Given the description of an element on the screen output the (x, y) to click on. 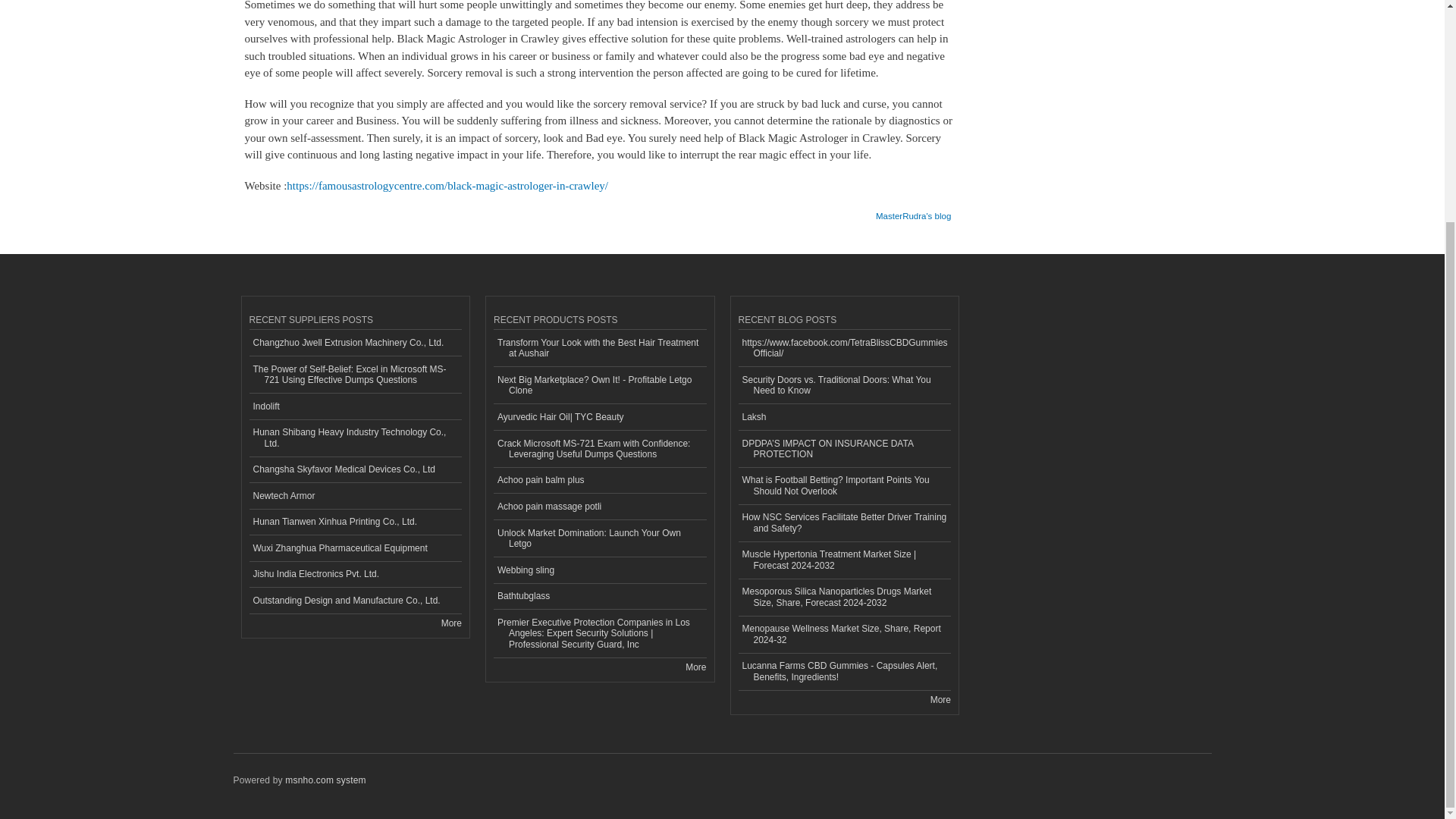
Newtech Armor (354, 496)
Changsha Skyfavor Medical Devices Co., Ltd (354, 469)
Next Big Marketplace? Own It! - Profitable Letgo Clone (599, 385)
More (451, 623)
Indolift (354, 406)
MasterRudra's blog (913, 211)
Achoo pain massage potli (599, 506)
Read the latest suppliers entries. (451, 623)
Read the latest products entries. (695, 666)
Transform Your Look with the Best Hair Treatment at Aushair (599, 348)
Outstanding Design and Manufacture Co., Ltd. (354, 601)
Read the latest blog entries. (940, 699)
Hunan Shibang Heavy Industry Technology Co., Ltd. (354, 438)
